Given the description of an element on the screen output the (x, y) to click on. 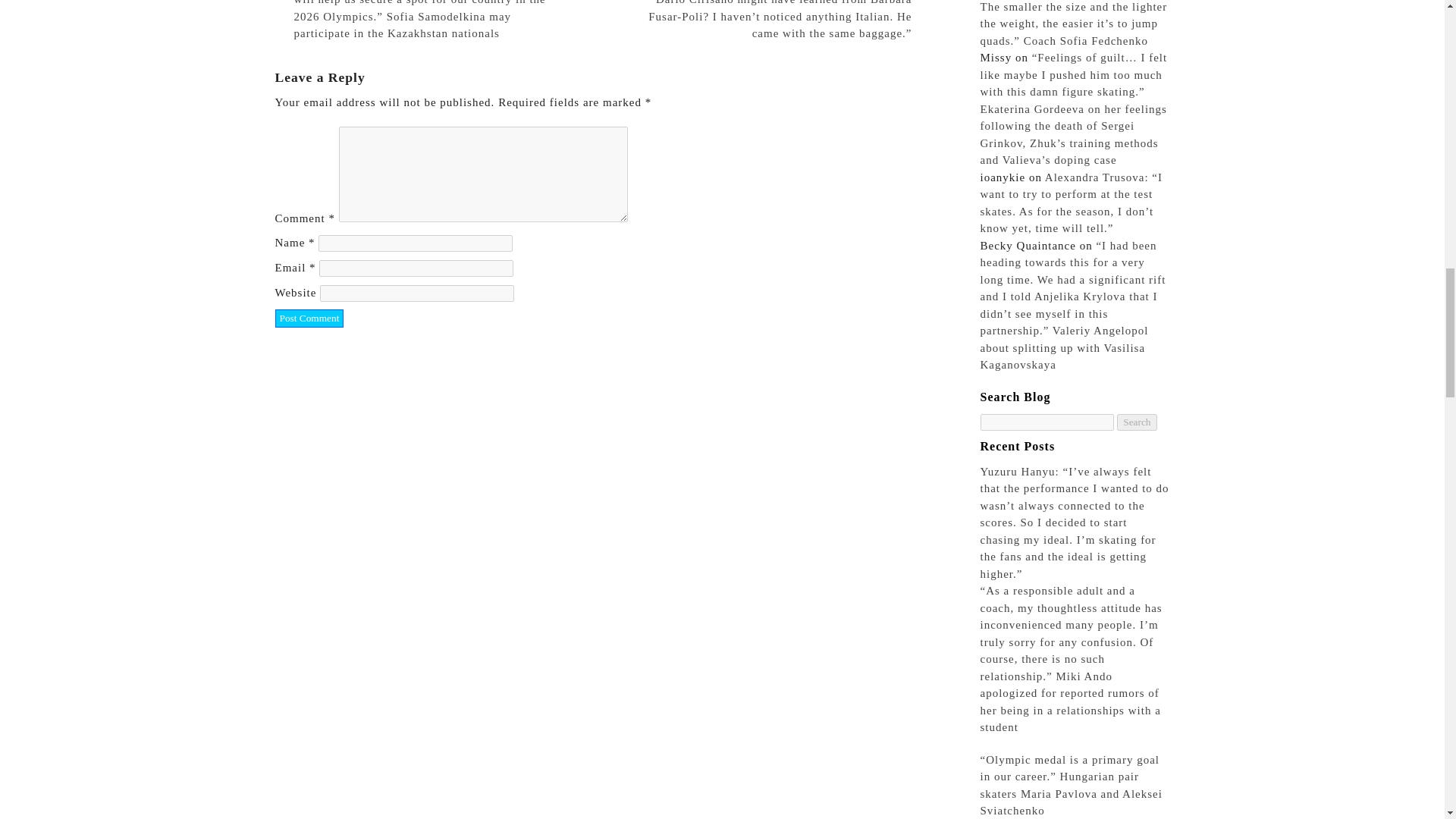
Post Comment (309, 318)
Search (1136, 422)
Post Comment (309, 318)
